Given the description of an element on the screen output the (x, y) to click on. 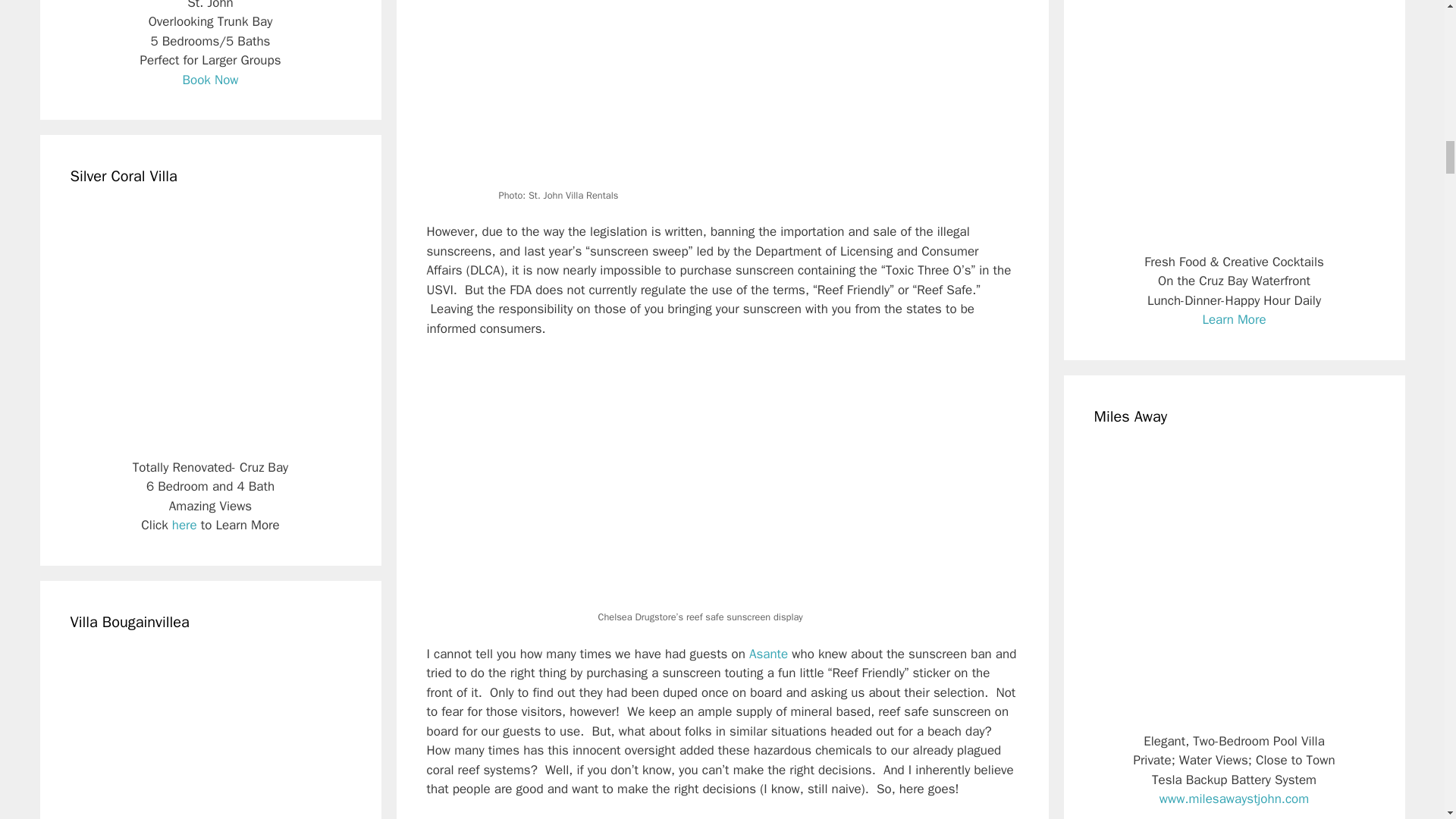
Asante (768, 653)
